Given the description of an element on the screen output the (x, y) to click on. 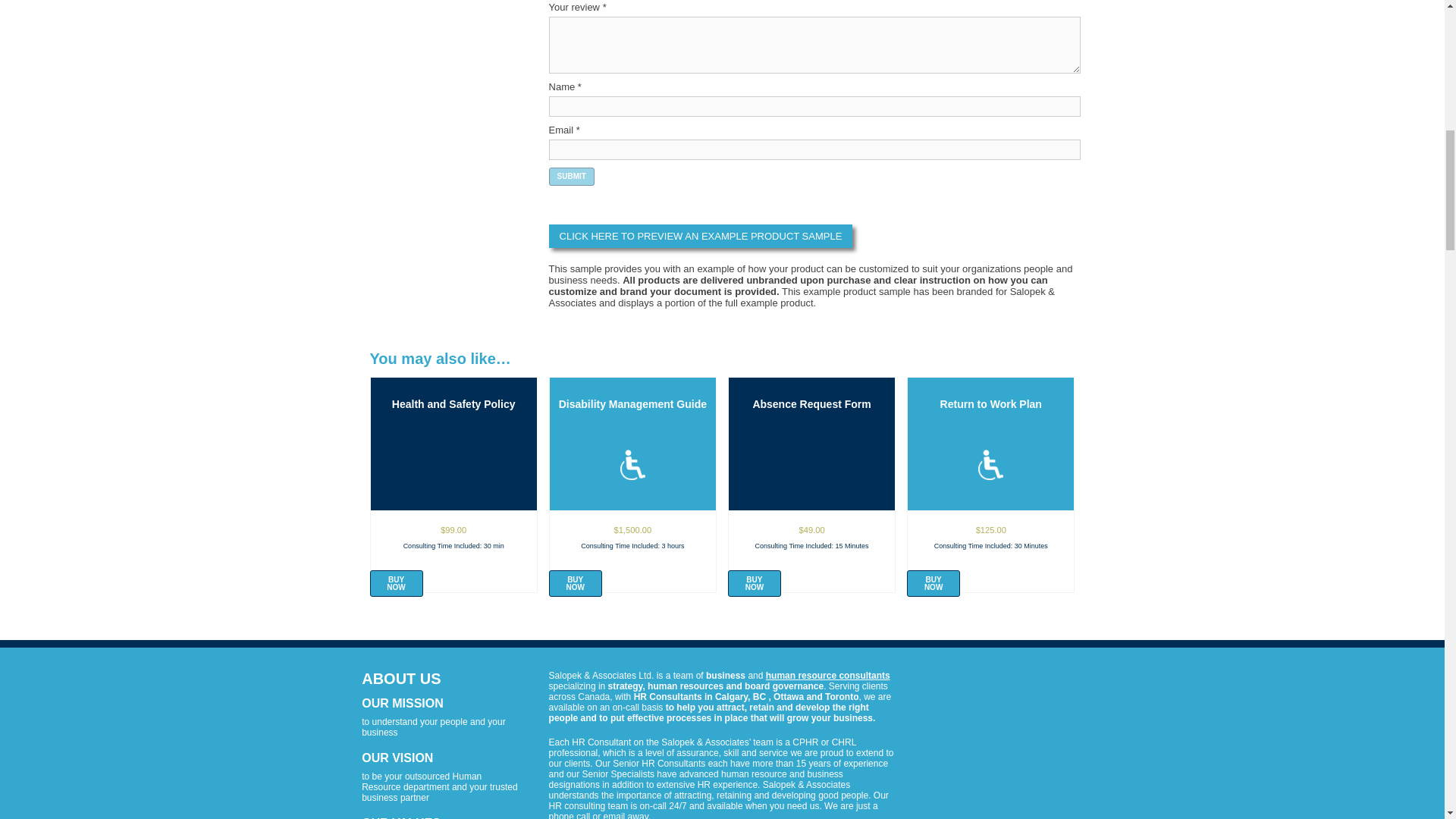
CLICK HERE TO PREVIEW AN EXAMPLE PRODUCT SAMPLE (700, 236)
Submit (571, 176)
Submit (571, 176)
